Given the description of an element on the screen output the (x, y) to click on. 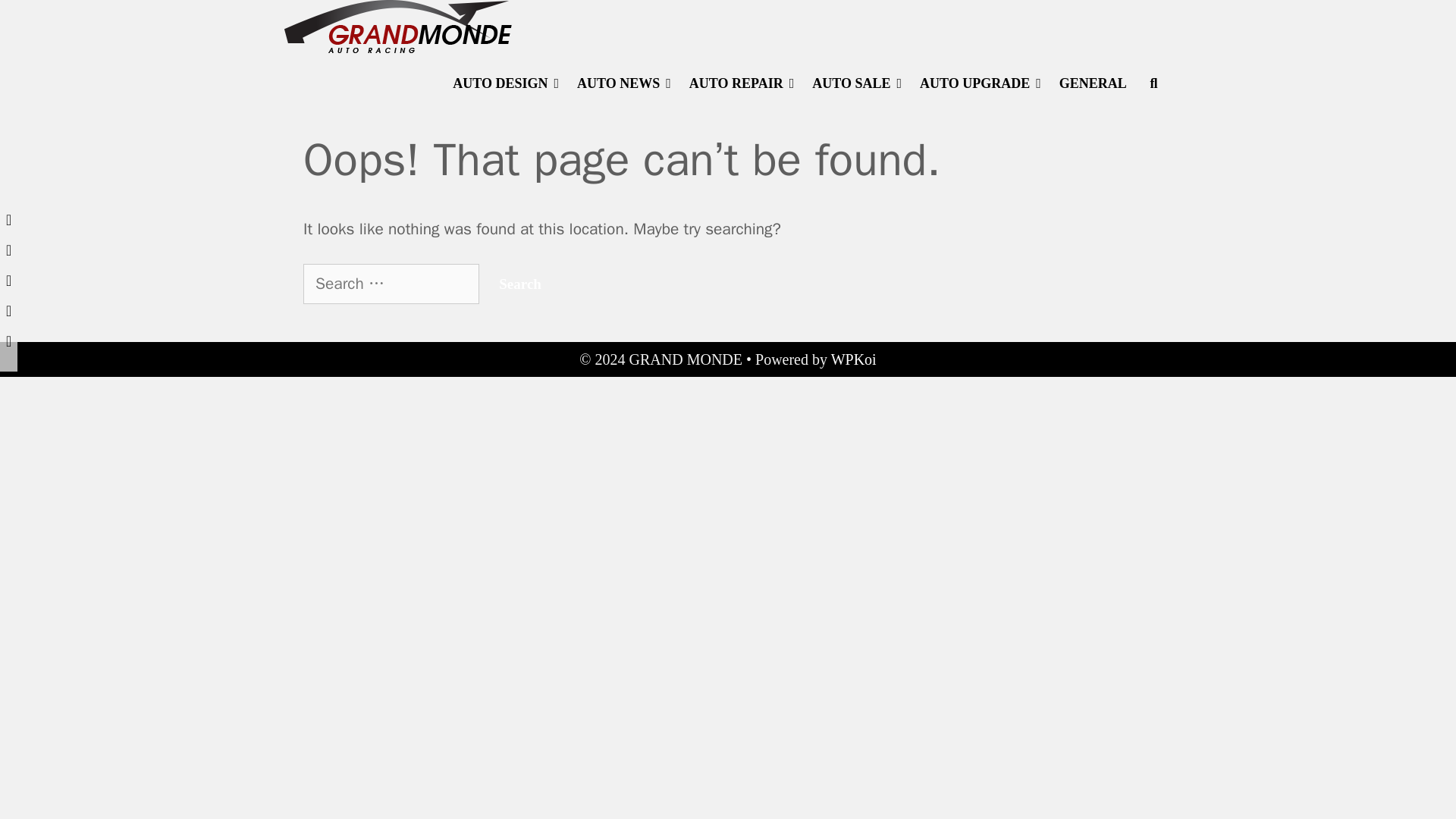
Search for: (390, 283)
Search (519, 284)
AUTO SALE (857, 83)
GRAND MONDE (397, 25)
AUTO NEWS (623, 83)
AUTO REPAIR (741, 83)
Search (364, 30)
GENERAL (1092, 83)
Search (519, 284)
